Given the description of an element on the screen output the (x, y) to click on. 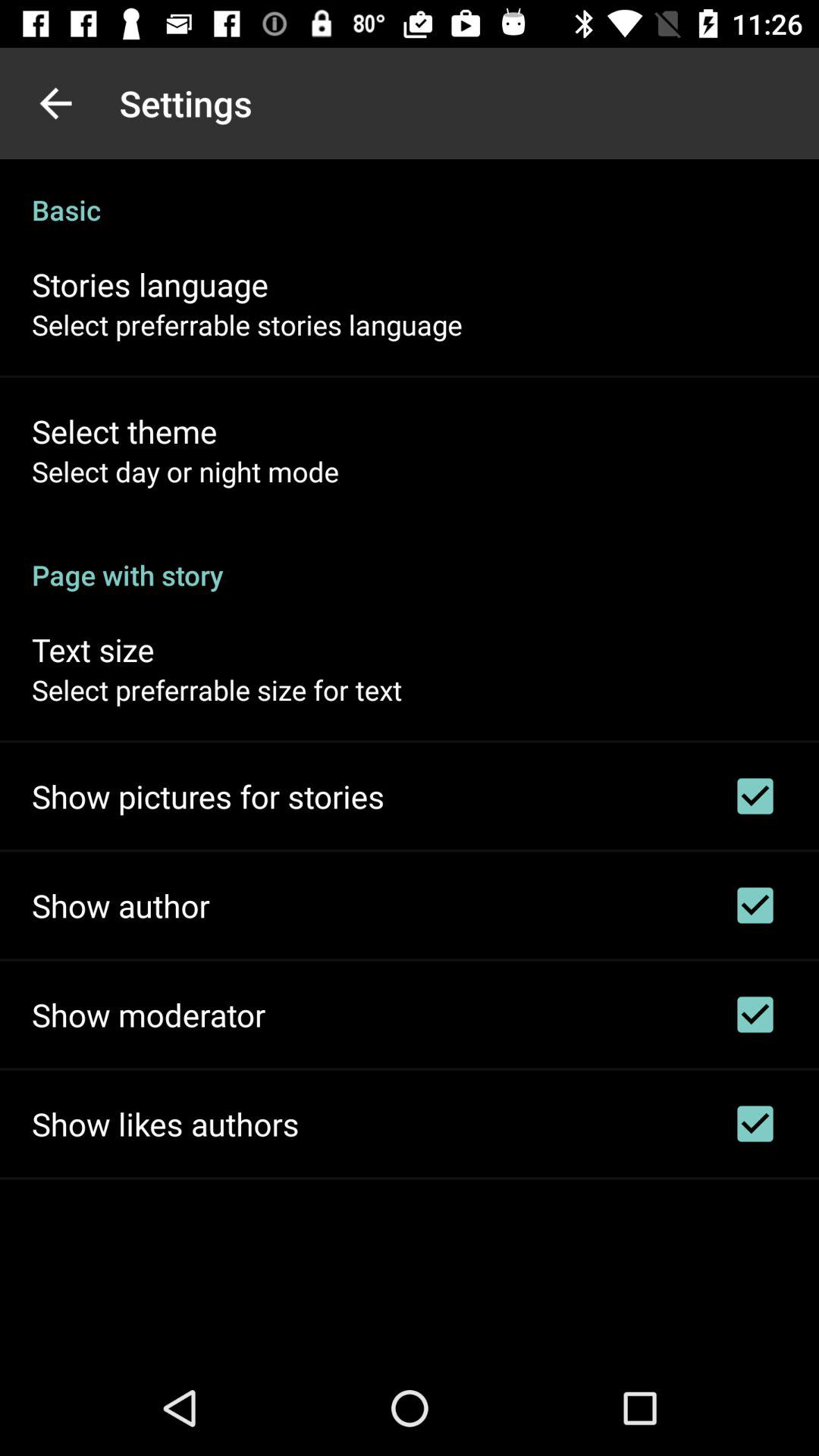
turn on show author item (120, 905)
